Given the description of an element on the screen output the (x, y) to click on. 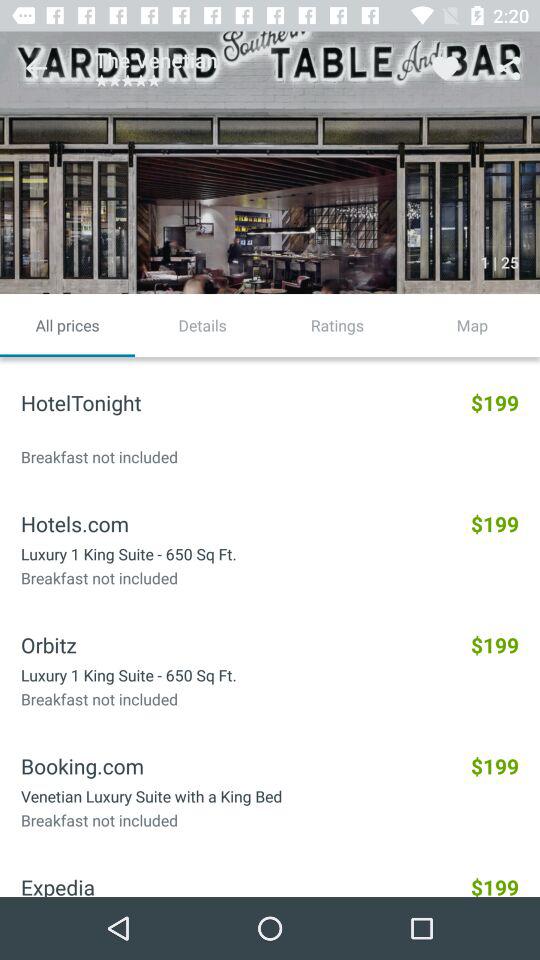
select the all prices (67, 325)
